Given the description of an element on the screen output the (x, y) to click on. 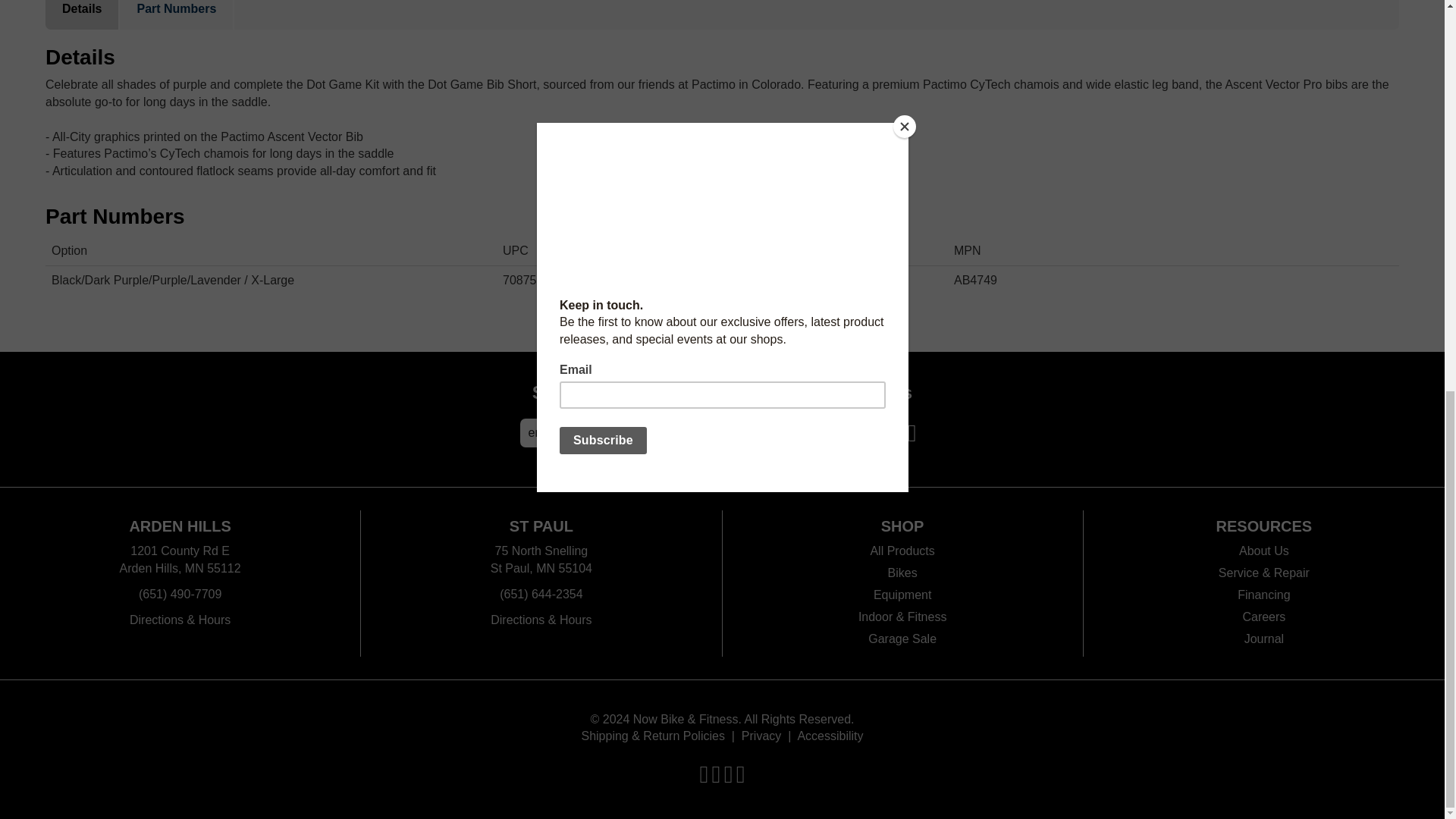
Subscribe (742, 432)
